Given the description of an element on the screen output the (x, y) to click on. 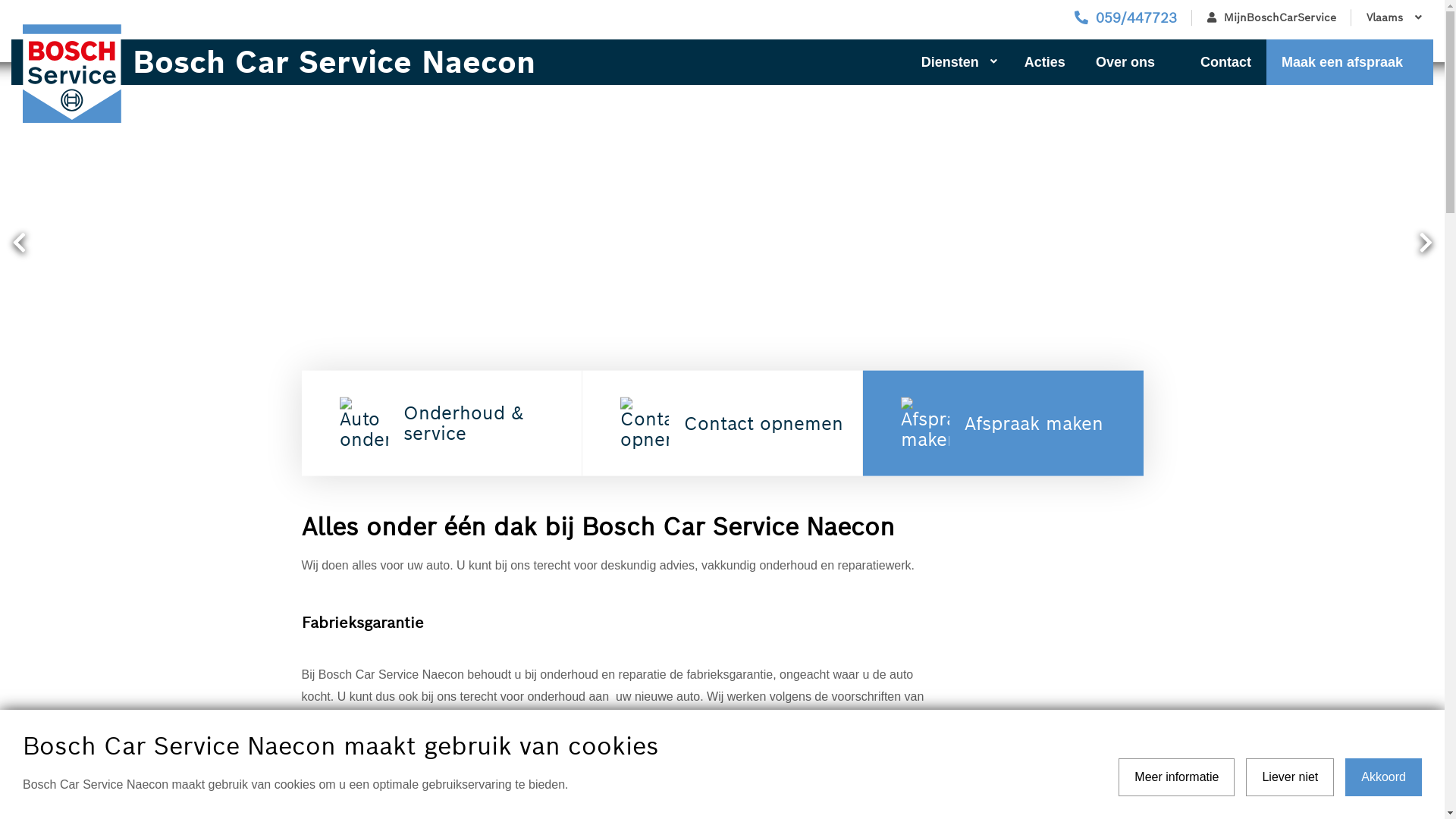
Vlaams Element type: text (1392, 17)
Akkoord Element type: text (1383, 777)
Onderhoud & service Element type: text (441, 423)
Contact Element type: text (1225, 61)
Afspraak maken Element type: text (1002, 423)
Over ons Element type: text (1132, 61)
059/447723 Element type: text (1125, 17)
Bosch Car Service Naecon Element type: text (371, 61)
Maak een afspraak Element type: text (1349, 61)
Skip to main content Element type: text (0, 0)
Acties Element type: text (1044, 61)
Meer informatie Element type: text (1176, 777)
Liever niet Element type: text (1289, 777)
Contact opnemen Element type: text (722, 423)
MijnBoschCarService Element type: text (1271, 17)
Diensten Element type: text (957, 61)
Meer informatie Element type: text (359, 763)
